Given the description of an element on the screen output the (x, y) to click on. 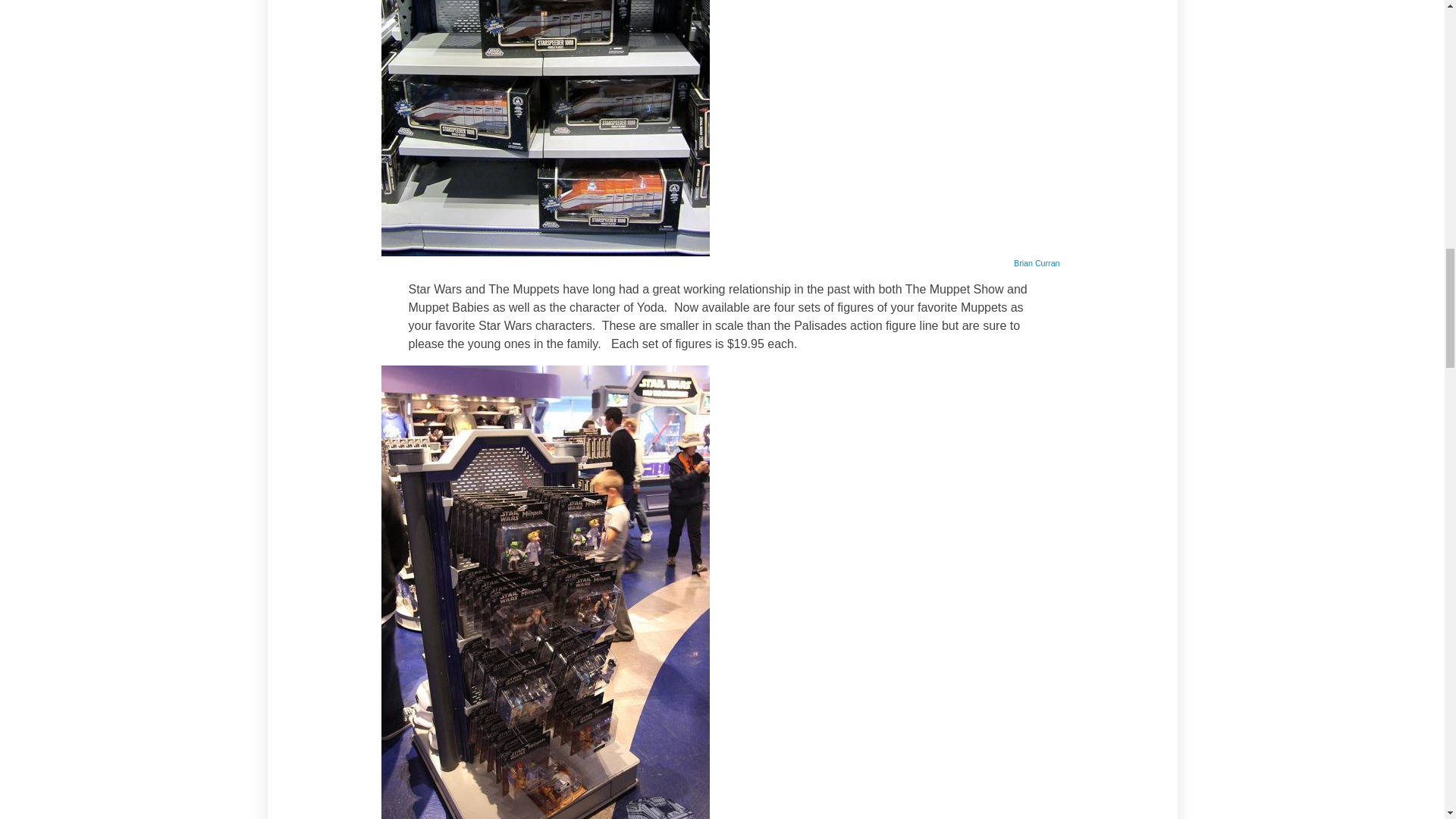
Brian Curran (1036, 262)
